Given the description of an element on the screen output the (x, y) to click on. 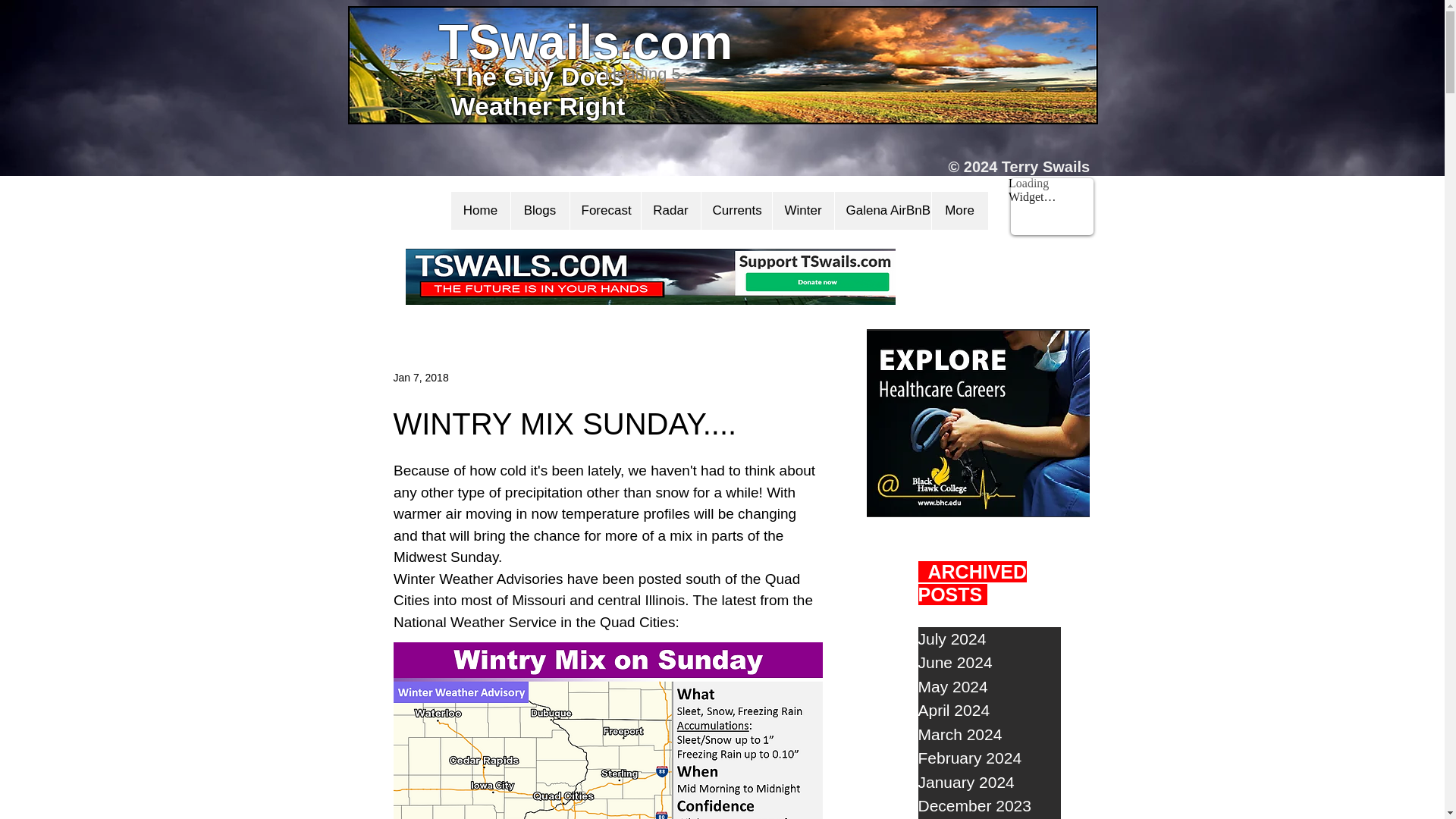
Jan 7, 2018 (420, 377)
Galena AirBnB (882, 210)
Forecast (604, 210)
Winter (802, 210)
Currents (735, 210)
Radar (670, 210)
Embedded Content (1051, 216)
TSwails.com (585, 42)
Home (479, 210)
